Given the description of an element on the screen output the (x, y) to click on. 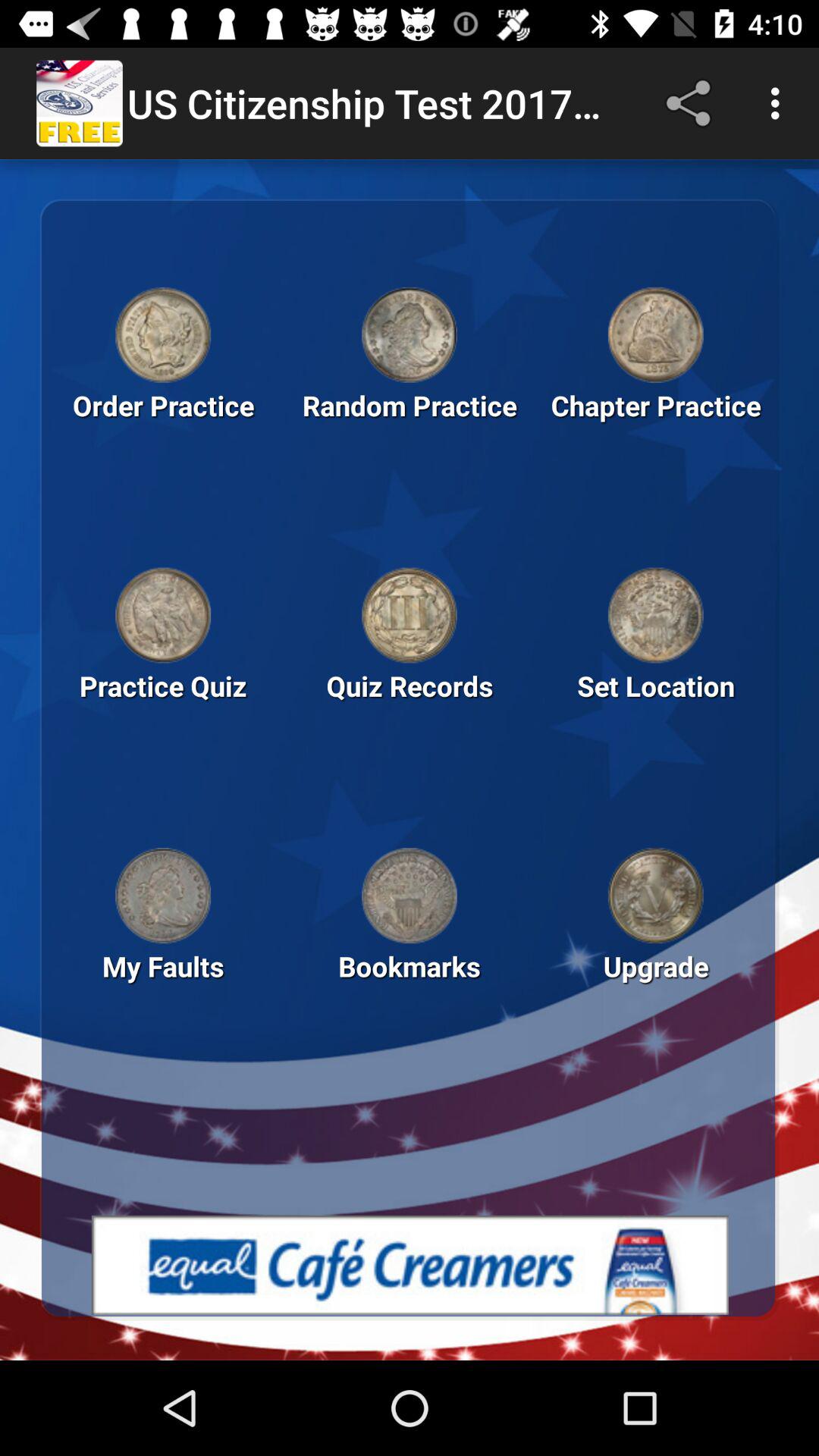
launch quiz (163, 615)
